Given the description of an element on the screen output the (x, y) to click on. 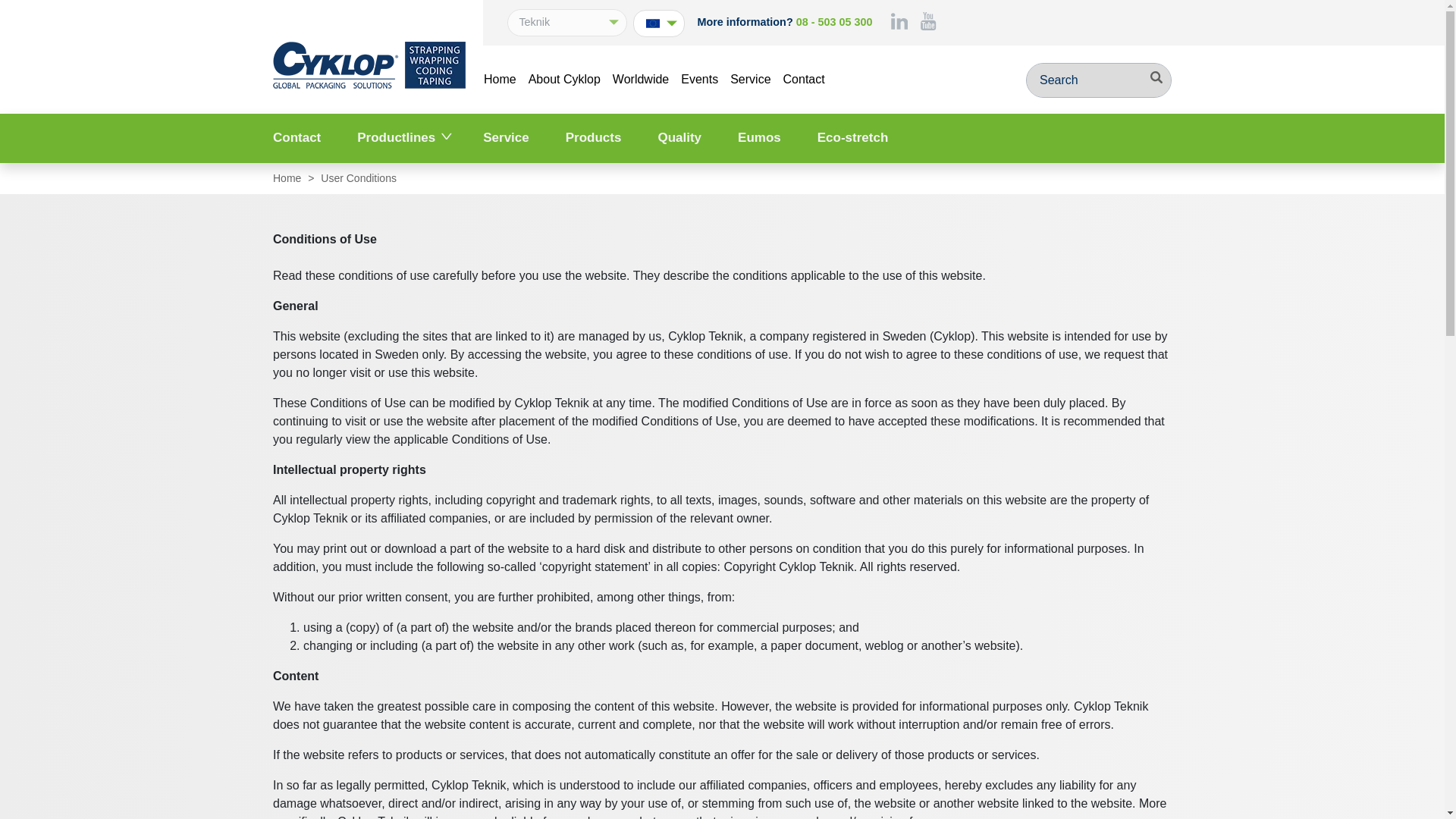
Eumos (759, 137)
Eco-stretch (852, 137)
Service (749, 79)
Quality (679, 137)
Products (593, 137)
Productlines (401, 137)
Service (506, 137)
Home (499, 79)
Contact (296, 137)
Events (699, 79)
